Given the description of an element on the screen output the (x, y) to click on. 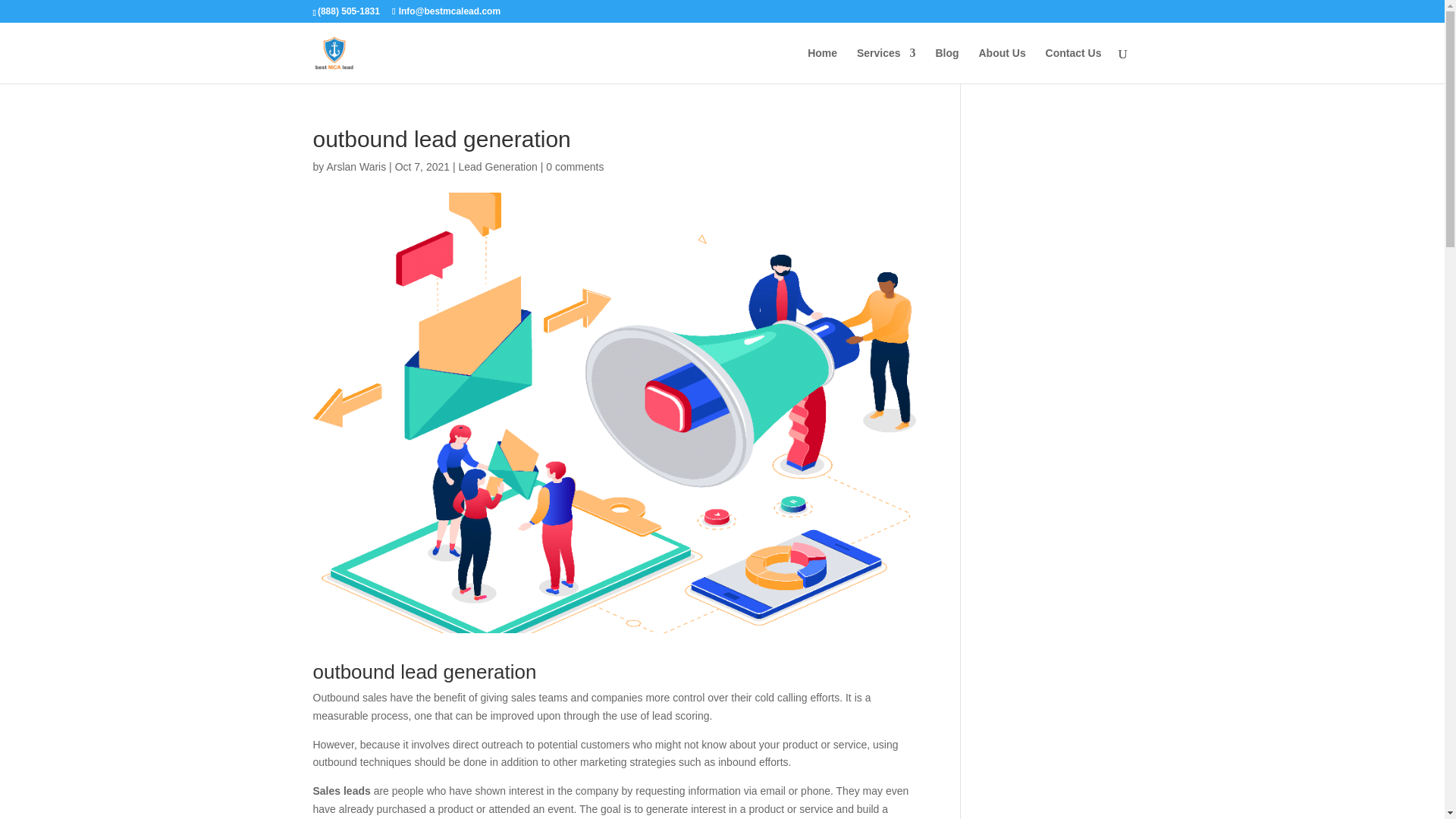
Lead Generation (497, 166)
Services (886, 65)
0 comments (575, 166)
Arslan Waris (355, 166)
Posts by Arslan Waris (355, 166)
Contact Us (1073, 65)
About Us (1001, 65)
